Given the description of an element on the screen output the (x, y) to click on. 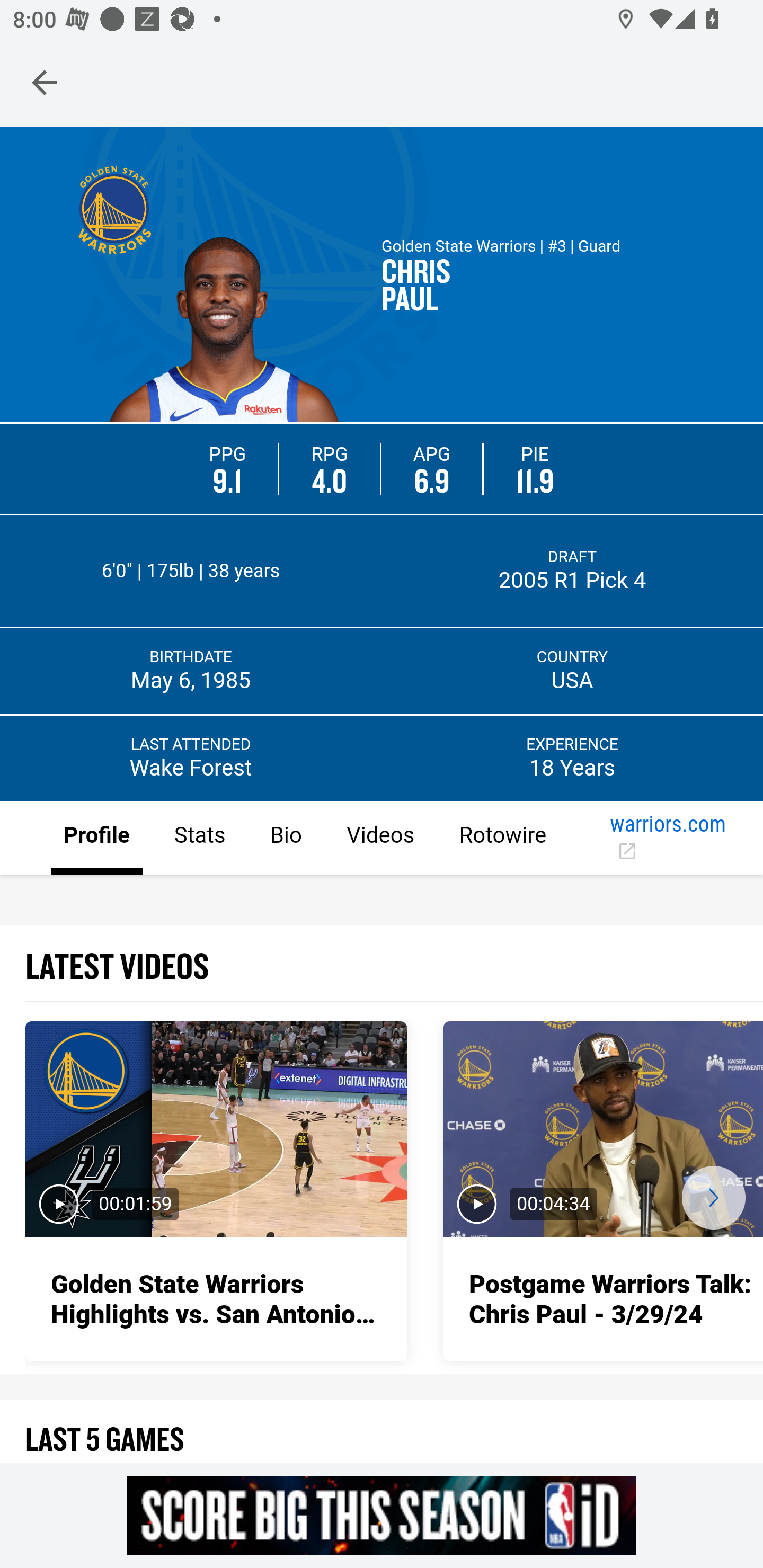
Navigate up (44, 82)
Golden State Warriors Logo (114, 209)
Profile (97, 838)
Stats (199, 838)
Bio (284, 838)
Videos (379, 838)
Rotowire (501, 838)
warriors.com (667, 838)
Carousel Button (713, 1197)
g5nqqygr7owph (381, 1515)
